Given the description of an element on the screen output the (x, y) to click on. 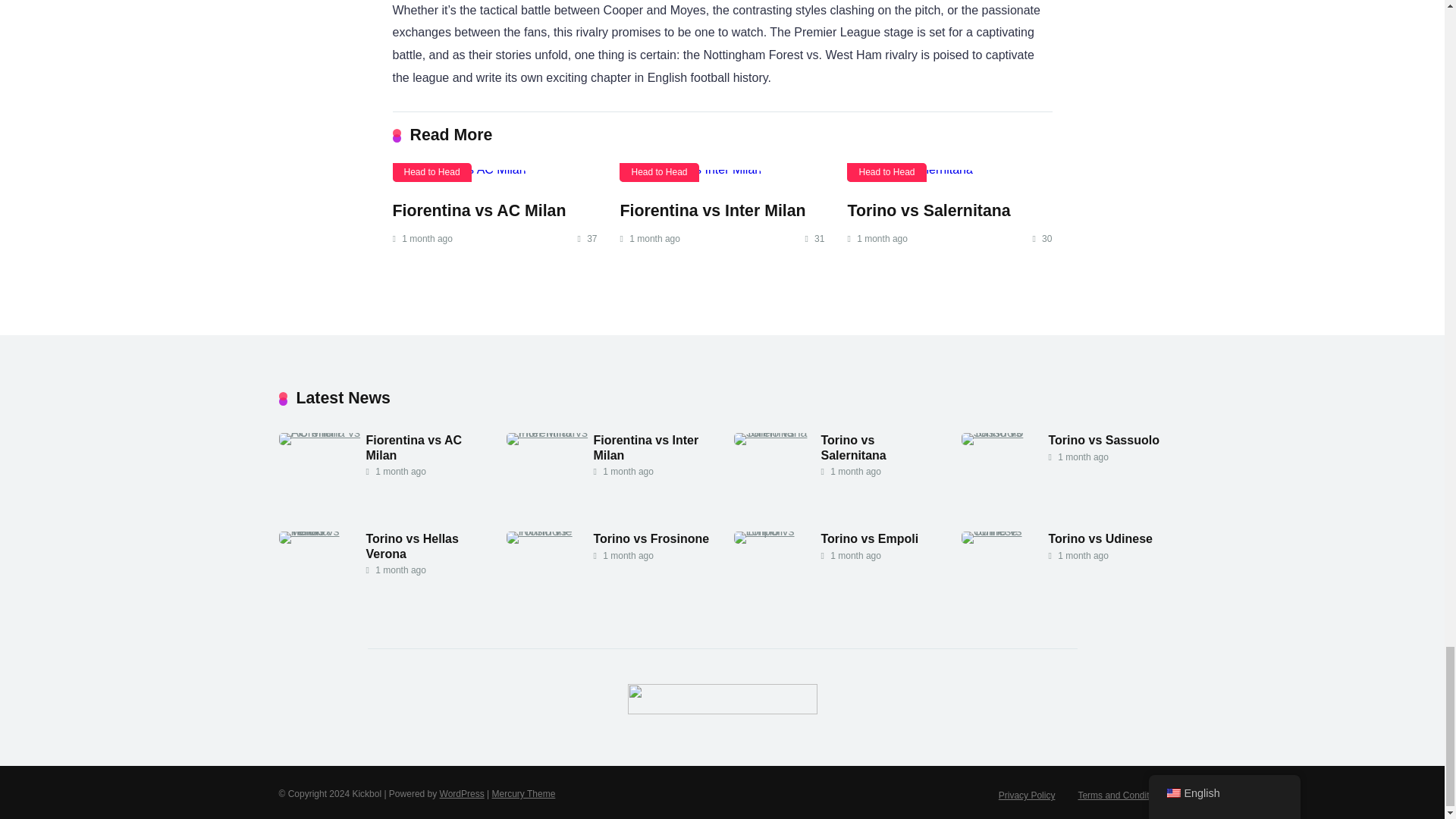
Fiorentina vs Inter Milan (722, 175)
Fiorentina vs Inter Milan (645, 447)
Fiorentina vs Inter Milan (712, 210)
Fiorentina vs AC Milan (479, 210)
Head to Head (886, 171)
Torino vs Hellas Verona (411, 546)
Fiorentina vs Inter Milan (645, 447)
Fiorentina vs Inter Milan (550, 431)
Fiorentina vs AC Milan (322, 431)
Head to Head (659, 171)
Fiorentina vs Inter Milan (712, 210)
Torino vs Salernitana (853, 447)
Torino vs Frosinone (650, 539)
Torino vs Salernitana (928, 210)
Head to Head (432, 171)
